Given the description of an element on the screen output the (x, y) to click on. 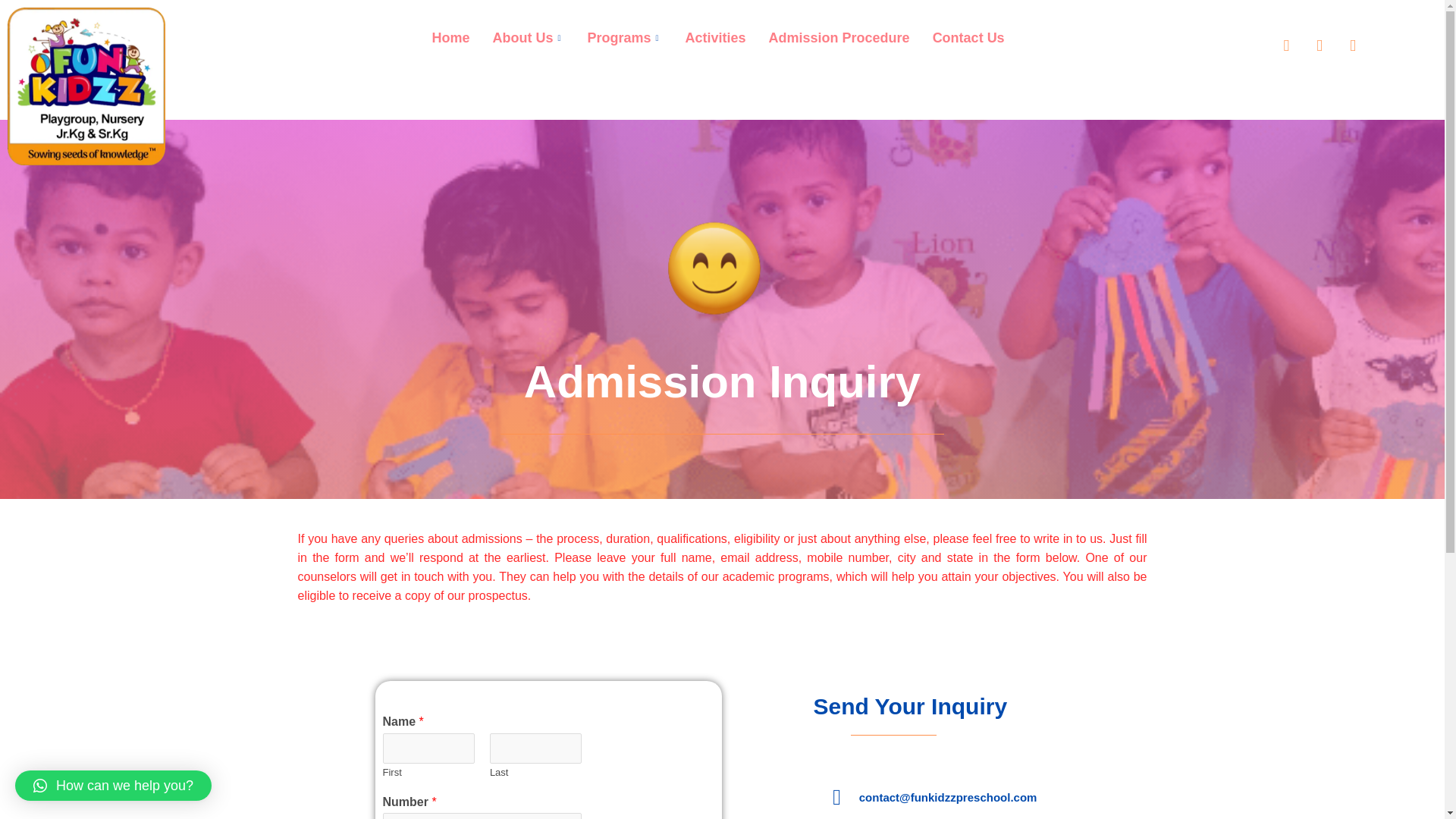
Contact Us (968, 37)
How can we help you? (112, 785)
Programs (623, 37)
About Us (527, 37)
Admission Procedure (839, 37)
Activities (715, 37)
Home (450, 37)
